Given the description of an element on the screen output the (x, y) to click on. 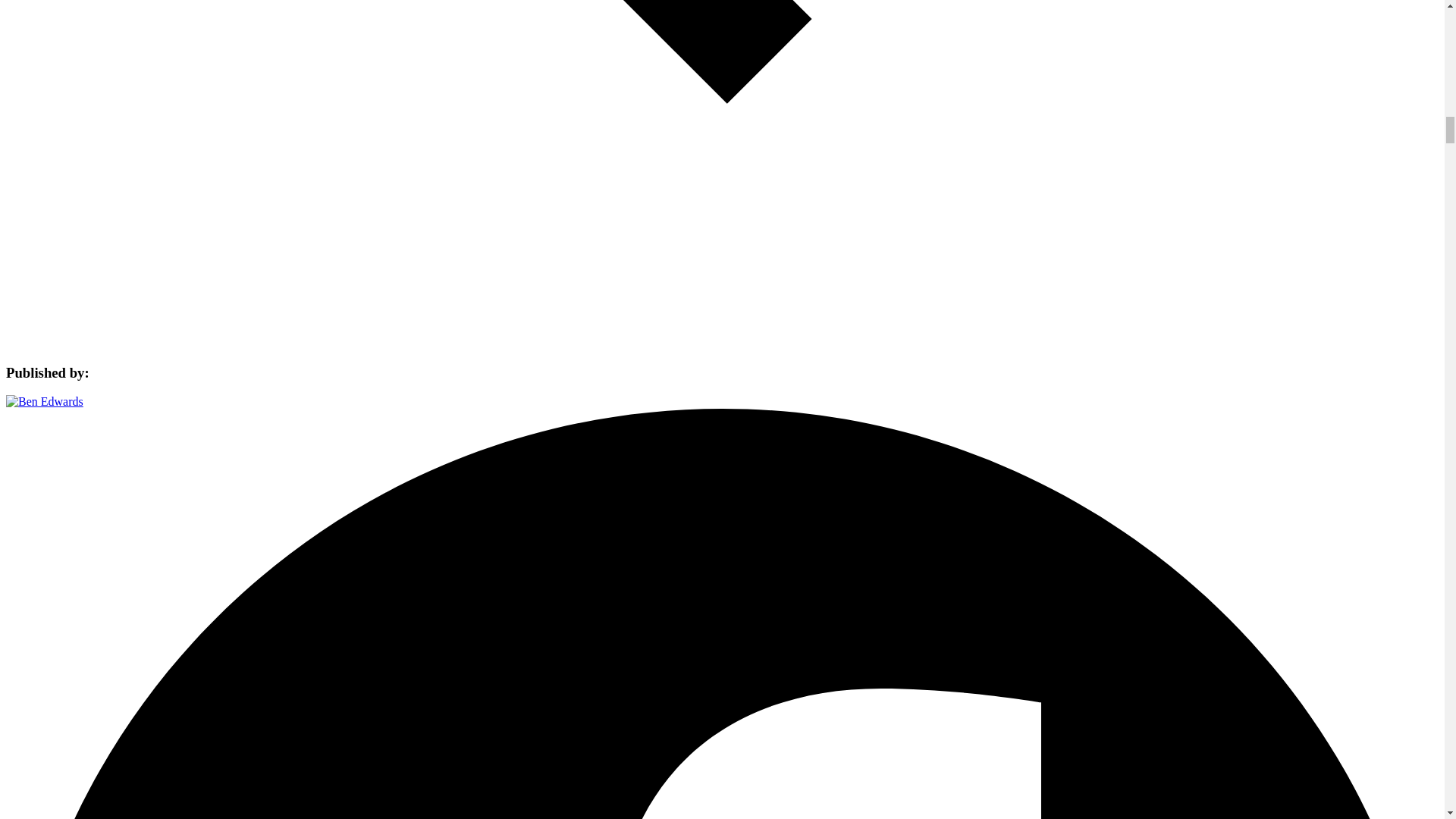
Ben Edwards (43, 400)
